Given the description of an element on the screen output the (x, y) to click on. 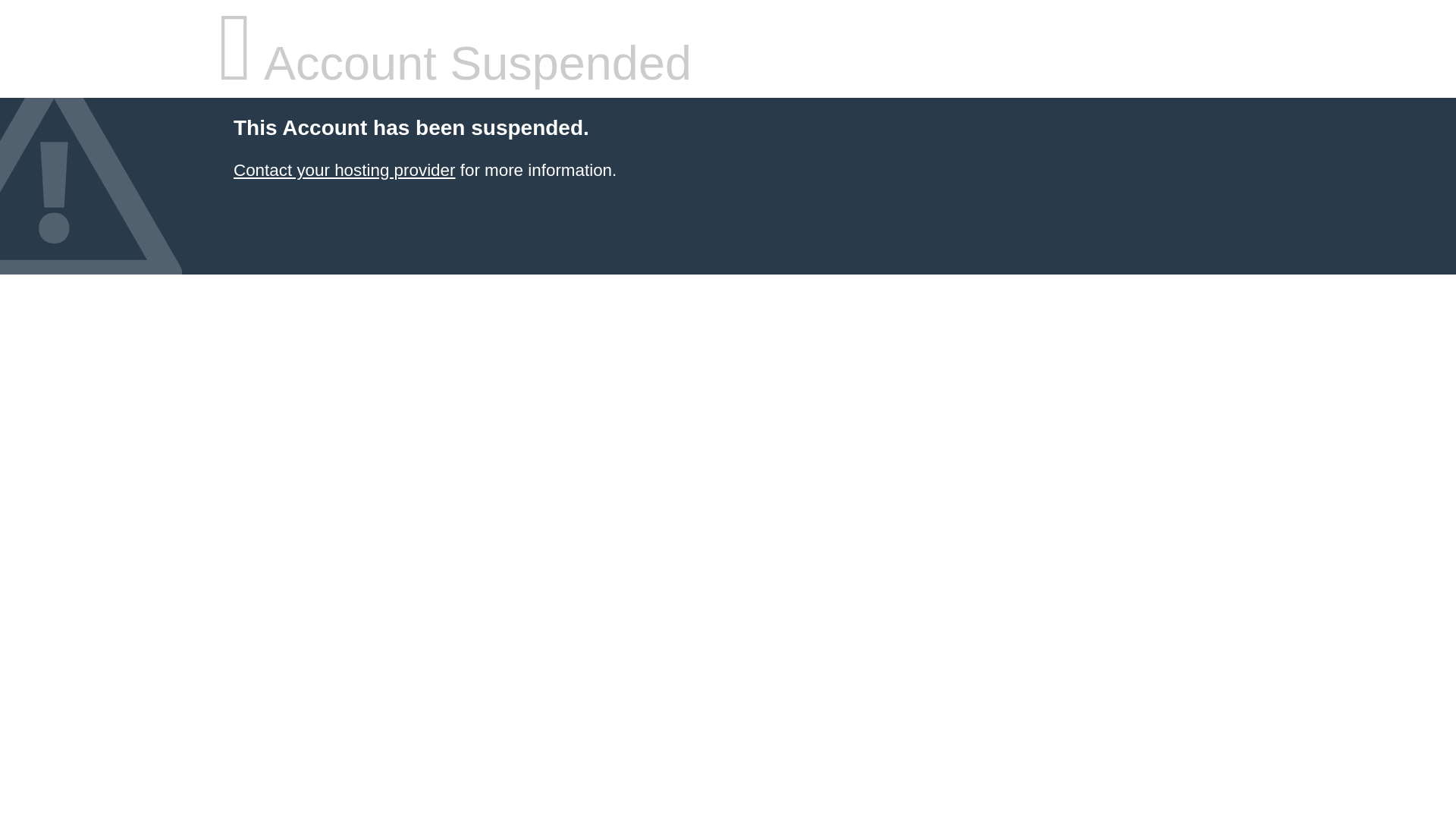
Contact your hosting provider (343, 169)
